Given the description of an element on the screen output the (x, y) to click on. 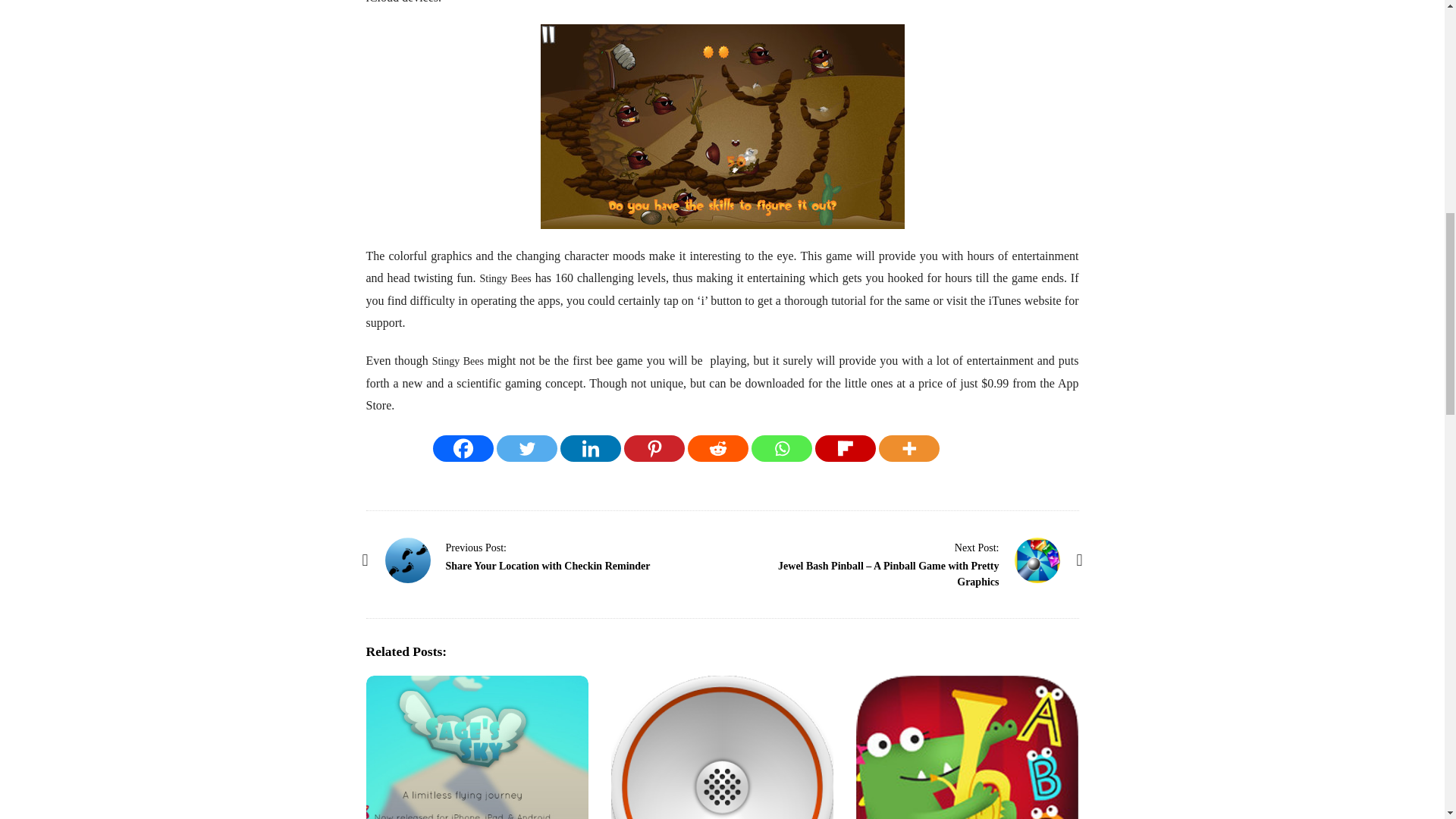
Previous Post: (475, 547)
More (909, 447)
Next Post: (976, 547)
Share Your Location with Checkin Reminder (407, 560)
Reddit (717, 447)
Share Your Location with Checkin Reminder (547, 565)
Facebook (462, 447)
Whatsapp (781, 447)
Linkedin (590, 447)
Share Your Location with Checkin Reminder (475, 547)
